Given the description of an element on the screen output the (x, y) to click on. 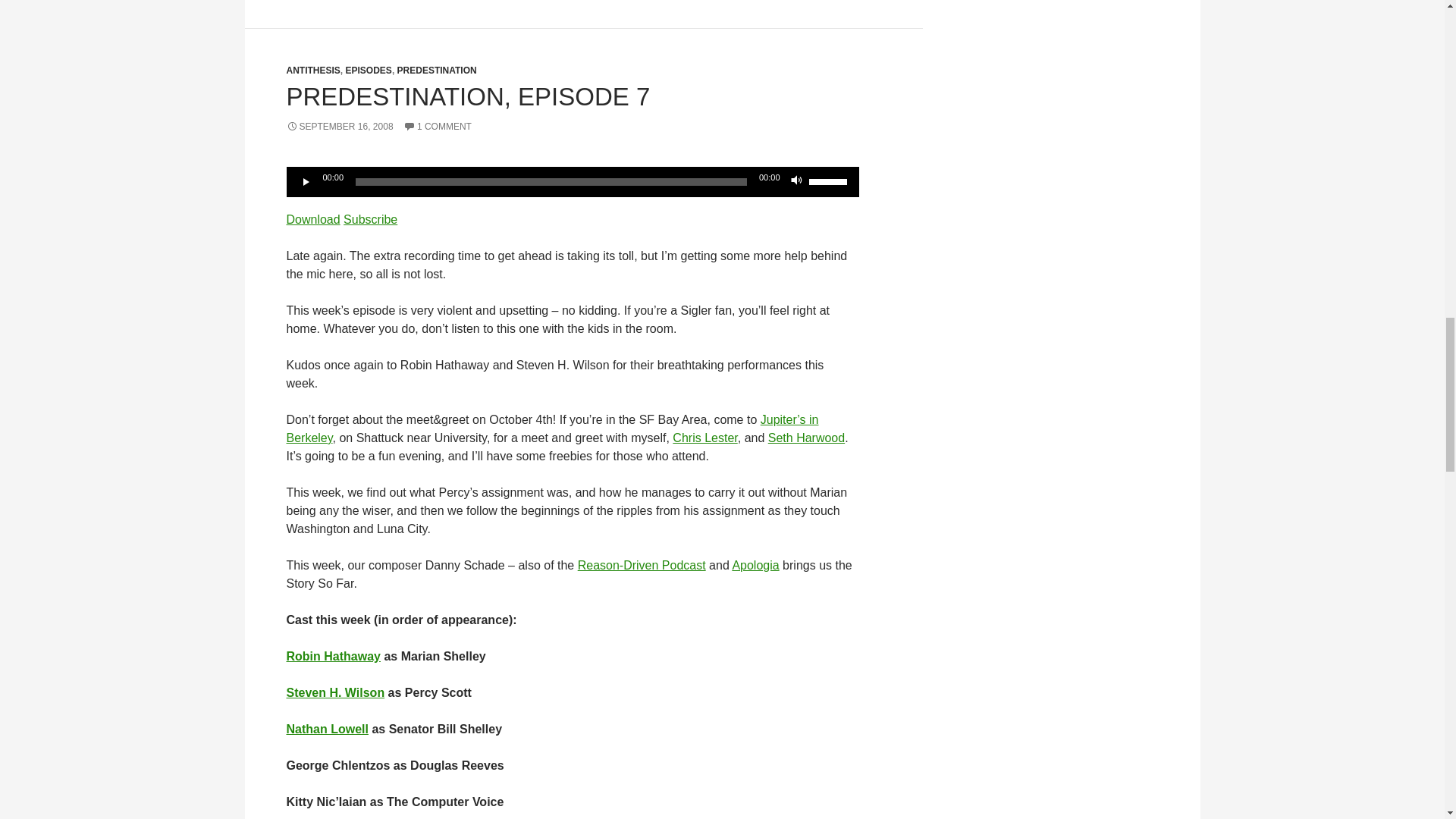
Mute (796, 181)
Play (306, 181)
